Given the description of an element on the screen output the (x, y) to click on. 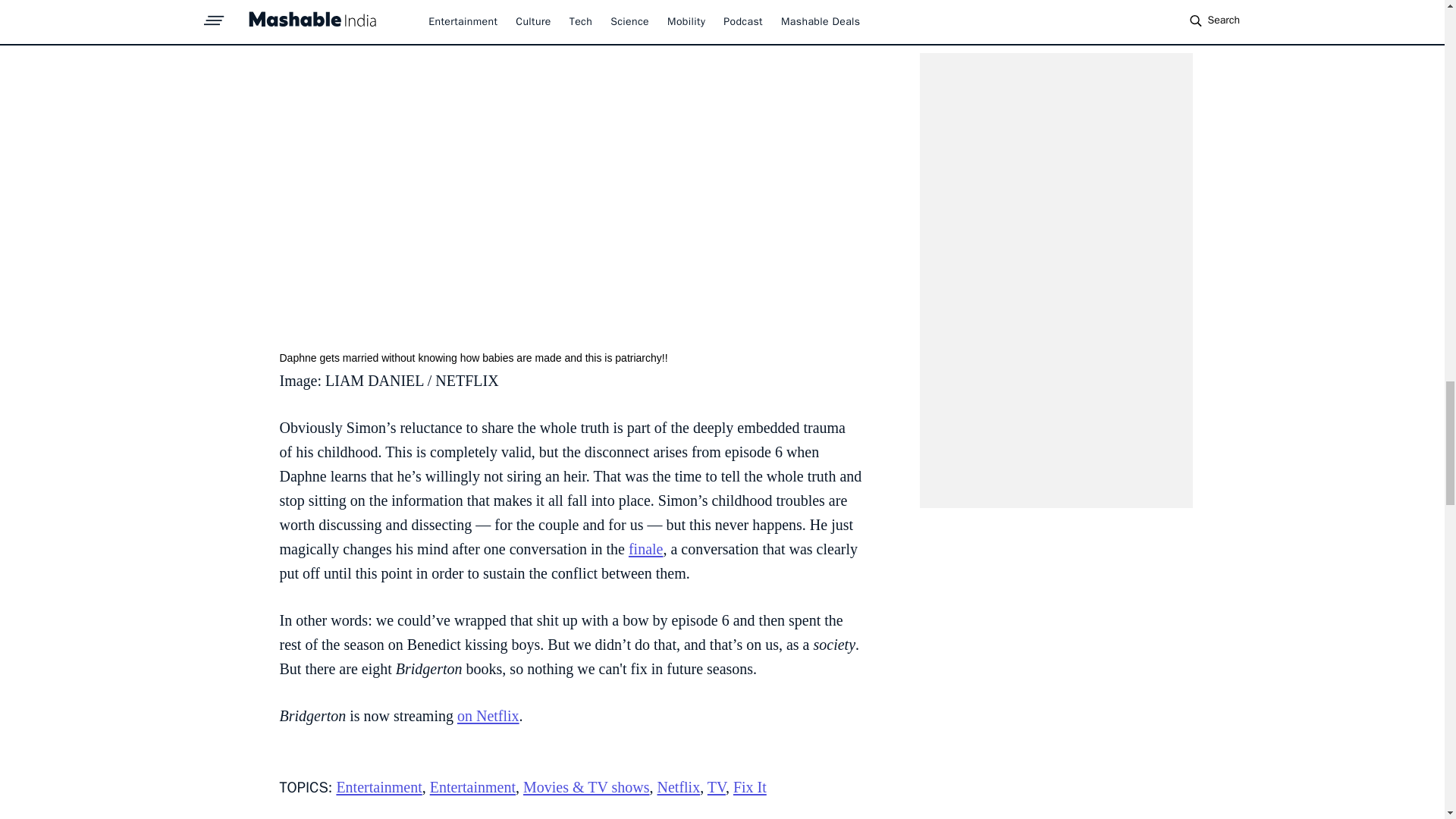
TV (716, 786)
Entertainment (379, 786)
Entertainment (472, 786)
finale (645, 548)
Fix It (750, 786)
on Netflix (488, 715)
Netflix (679, 786)
